Given the description of an element on the screen output the (x, y) to click on. 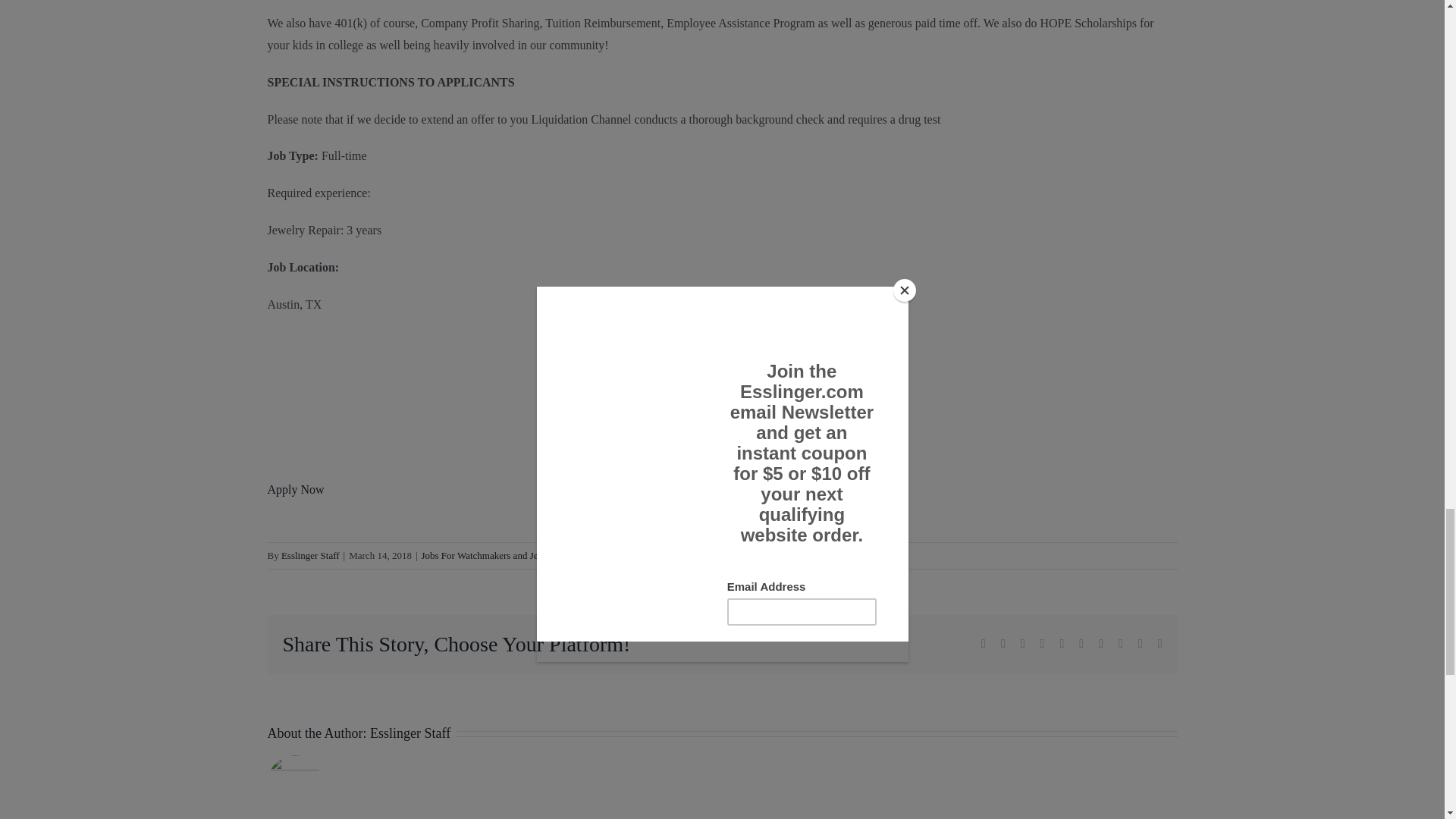
Posts by Esslinger Staff (409, 733)
Posts by Esslinger Staff (310, 555)
